Given the description of an element on the screen output the (x, y) to click on. 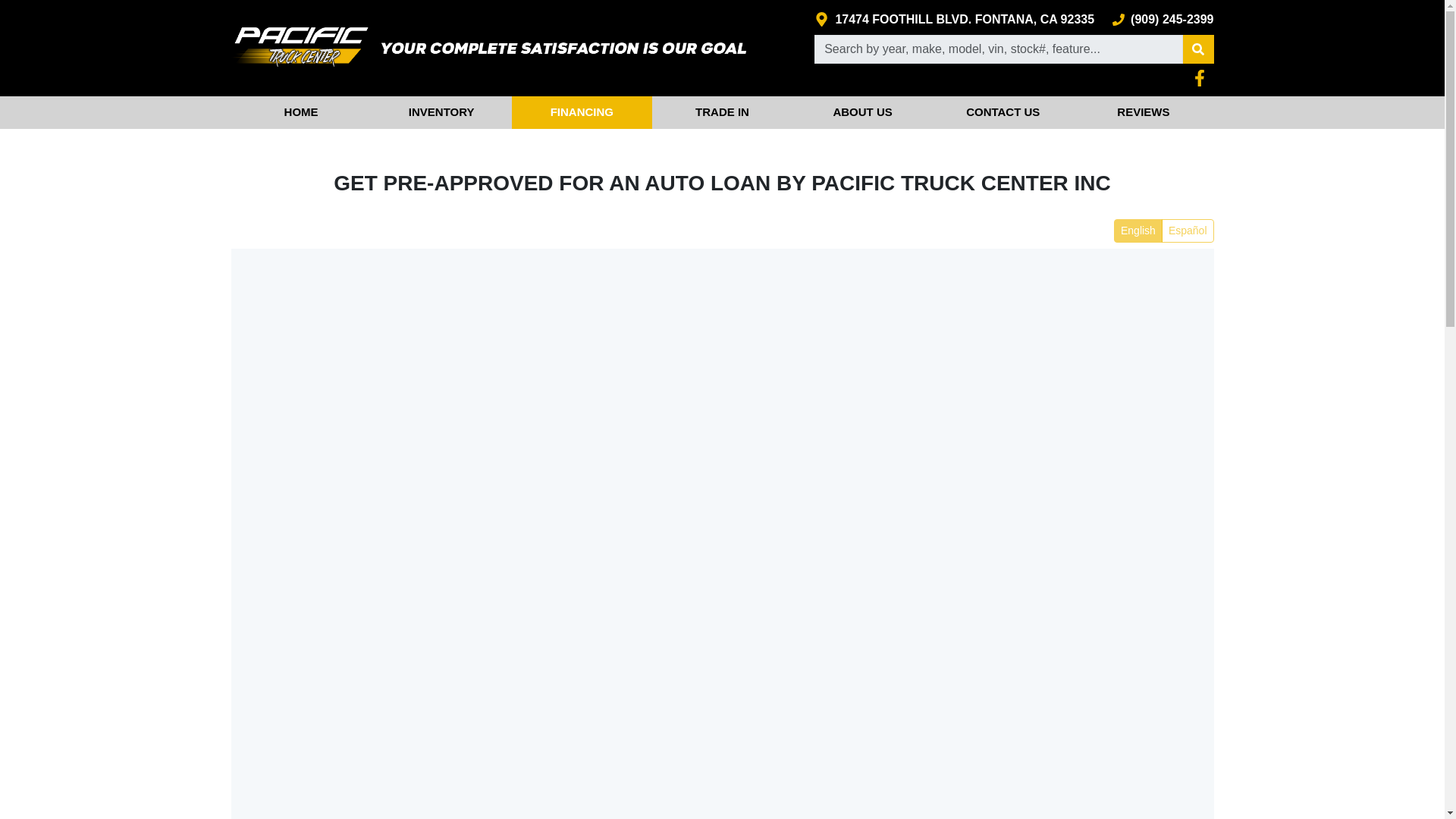
en (1118, 224)
17474 FOOTHILL BLVD. FONTANA, CA 92335 (953, 19)
INVENTORY (441, 112)
es (1118, 224)
CONTACT US (1003, 112)
REVIEWS (1142, 112)
FINANCING (582, 112)
HOME (300, 112)
TRADE IN (722, 112)
